Given the description of an element on the screen output the (x, y) to click on. 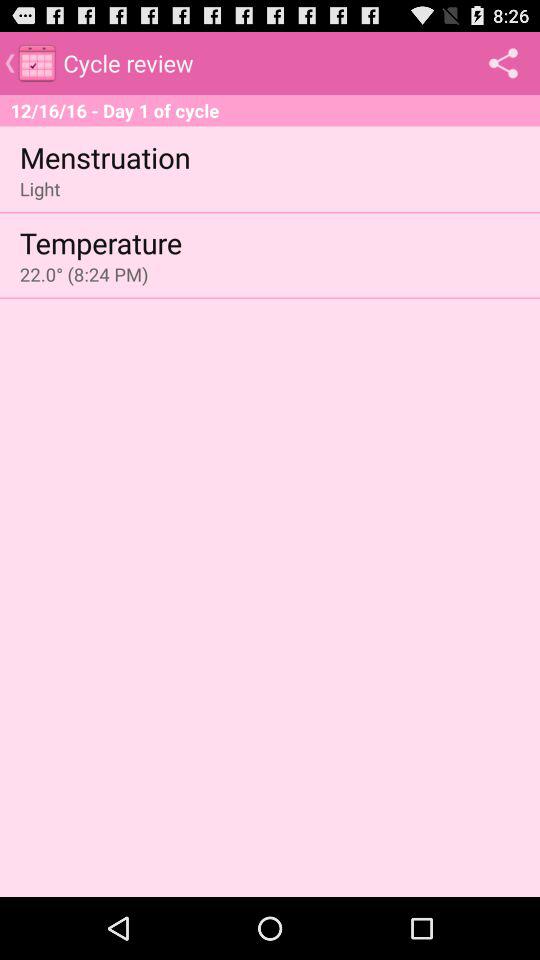
swipe until light item (39, 188)
